Given the description of an element on the screen output the (x, y) to click on. 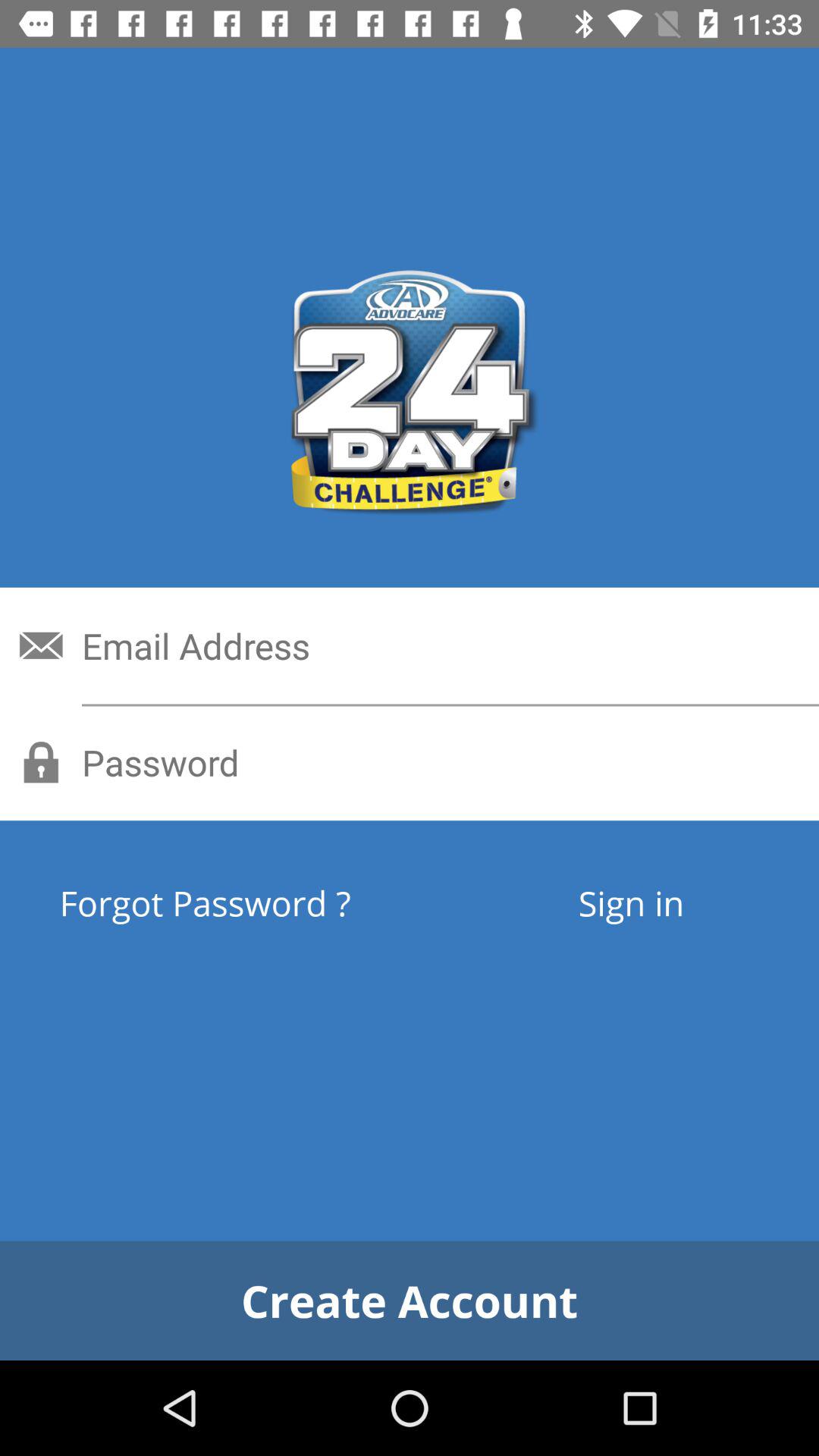
turn off the icon next to sign in (261, 902)
